Given the description of an element on the screen output the (x, y) to click on. 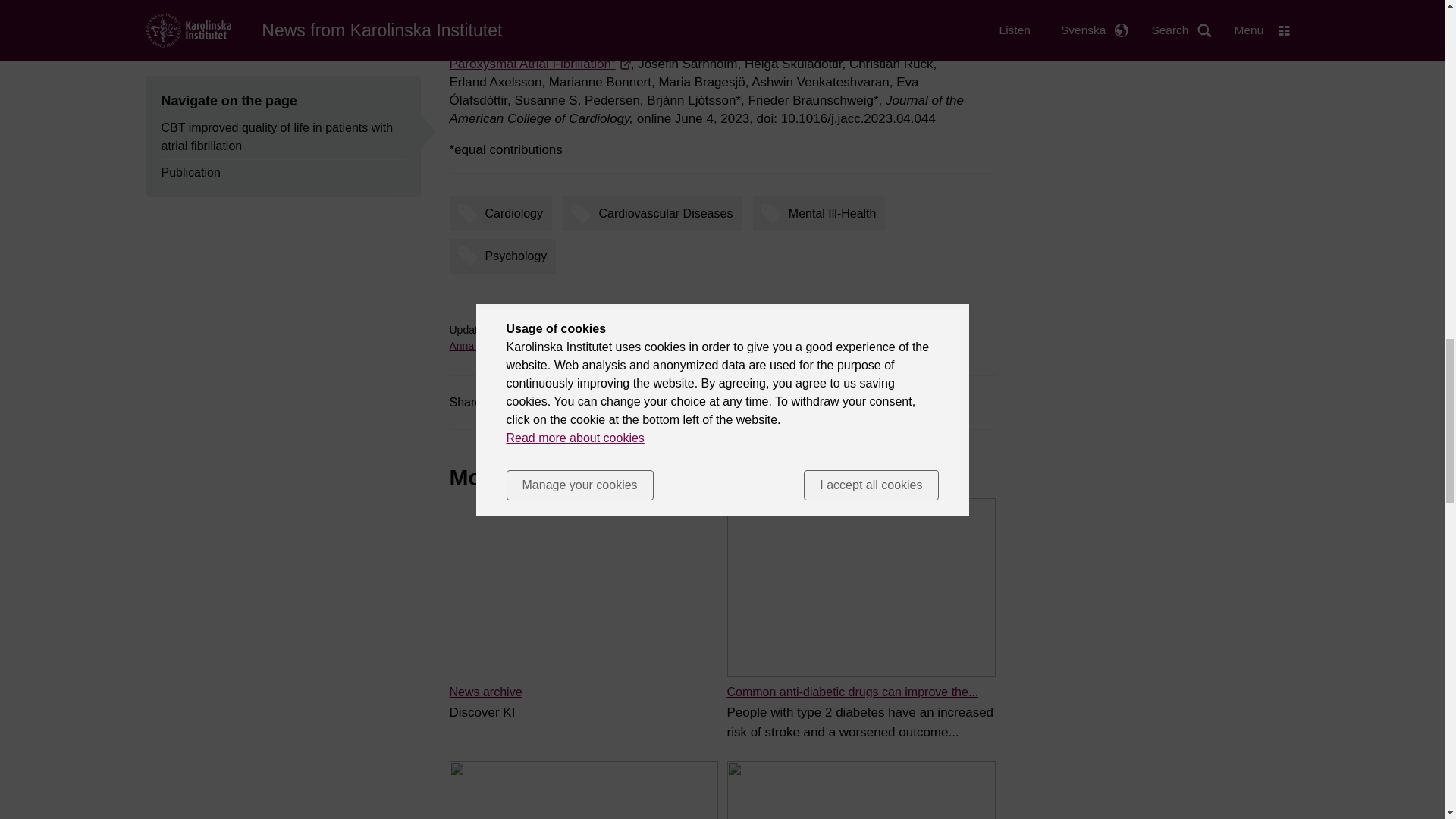
Facebook (523, 402)
Psychology (505, 256)
Twitter (576, 402)
Common anti-diabetic drugs can improve the... (852, 691)
LinkedIn (629, 402)
Cardiology (503, 213)
Common anti-diabetic drugs can improve the... (852, 691)
Cardiovascular Diseases (655, 213)
News archive (484, 691)
News archive (484, 691)
Mental Ill-Health (822, 213)
